Given the description of an element on the screen output the (x, y) to click on. 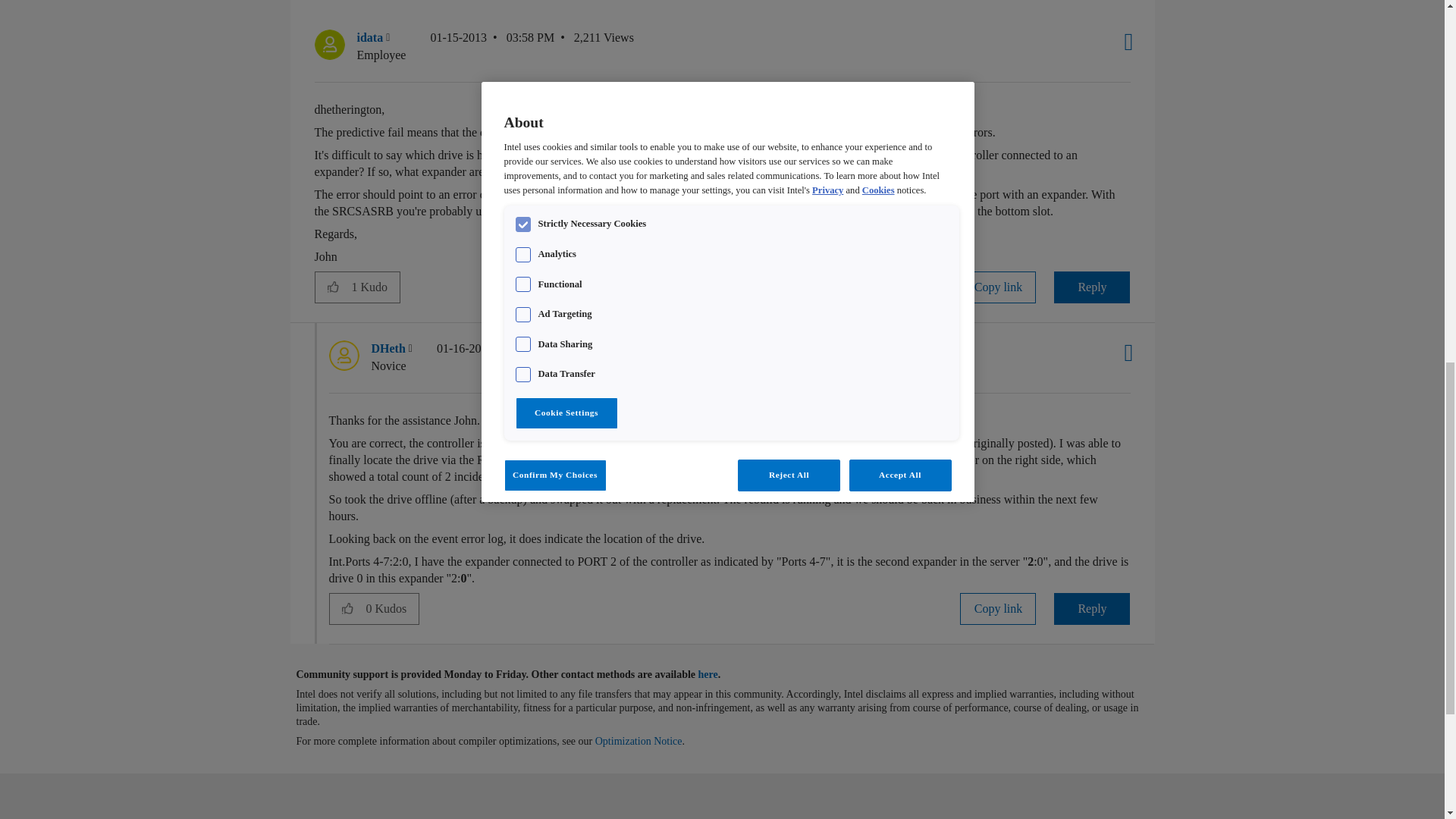
Click here to see who gave kudos to this post. (374, 286)
Posted on (491, 46)
idata (328, 44)
